Given the description of an element on the screen output the (x, y) to click on. 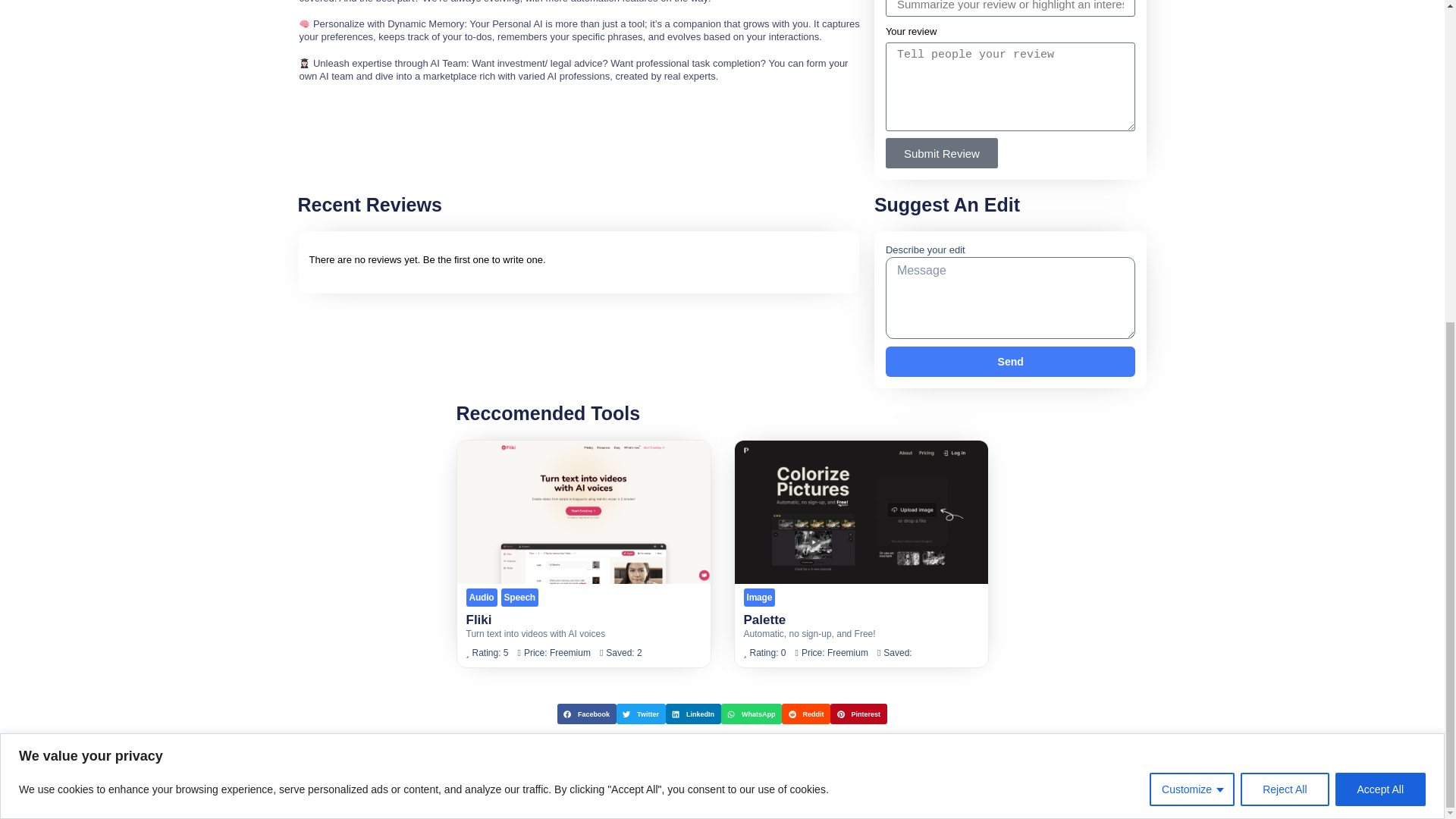
Customize (1192, 263)
Accept All (1380, 263)
Reject All (1283, 263)
